Given the description of an element on the screen output the (x, y) to click on. 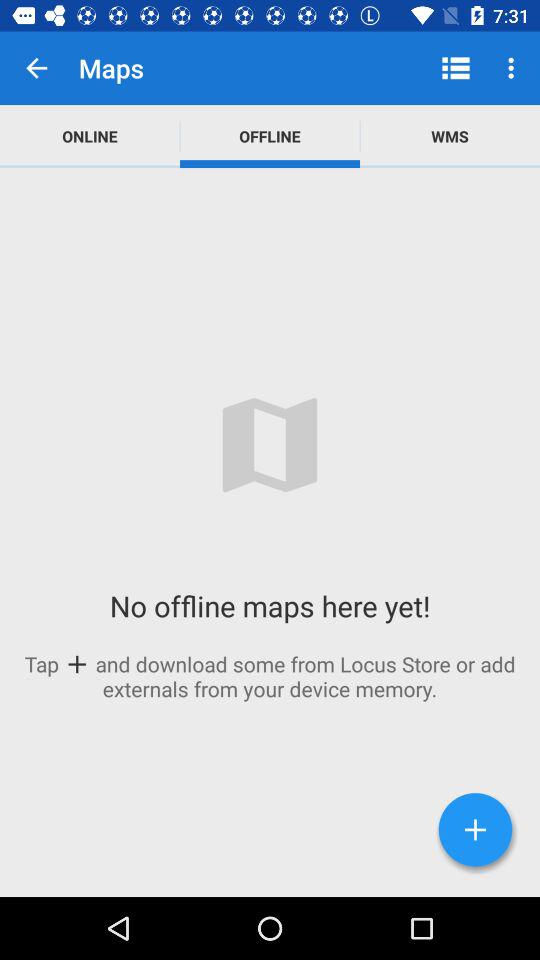
jump until online (90, 136)
